Given the description of an element on the screen output the (x, y) to click on. 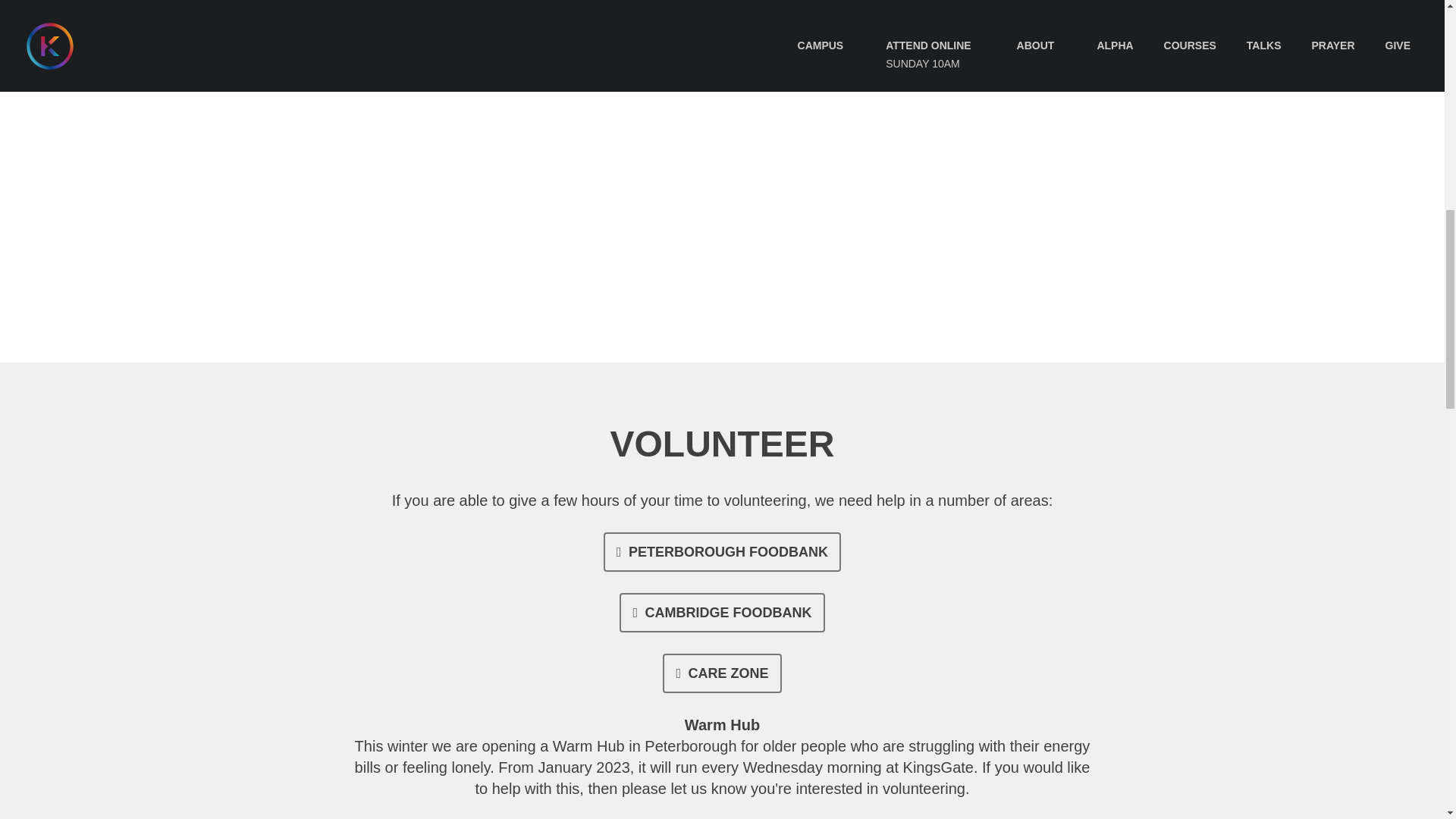
Care Zone (721, 672)
Peterborough Foodbank (722, 551)
Cambridge Foodbank (722, 612)
